Given the description of an element on the screen output the (x, y) to click on. 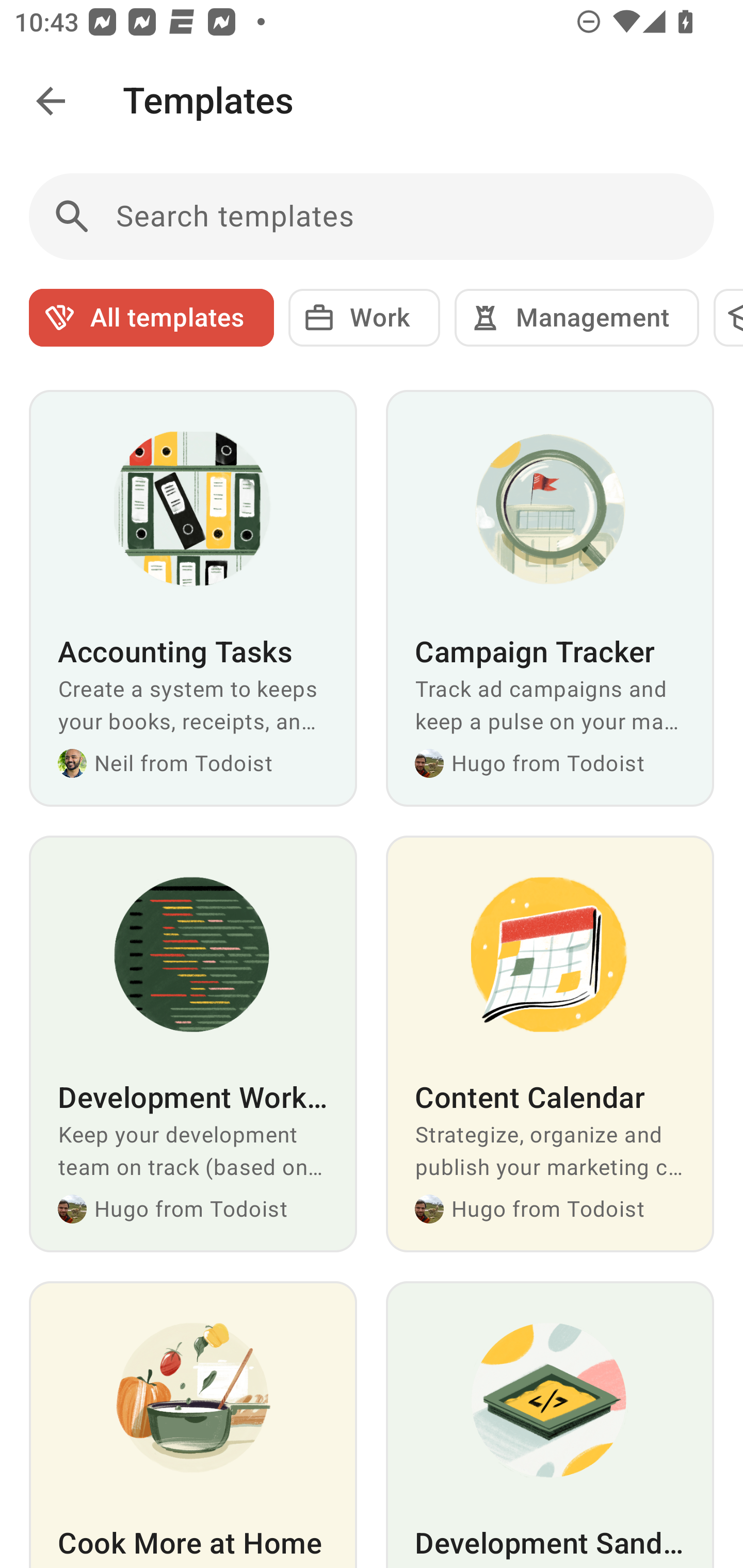
Back (50, 101)
Search Search templates (371, 217)
Work (363, 317)
Management (576, 317)
Cook More at Home (192, 1424)
Development Sandbox (549, 1424)
